Given the description of an element on the screen output the (x, y) to click on. 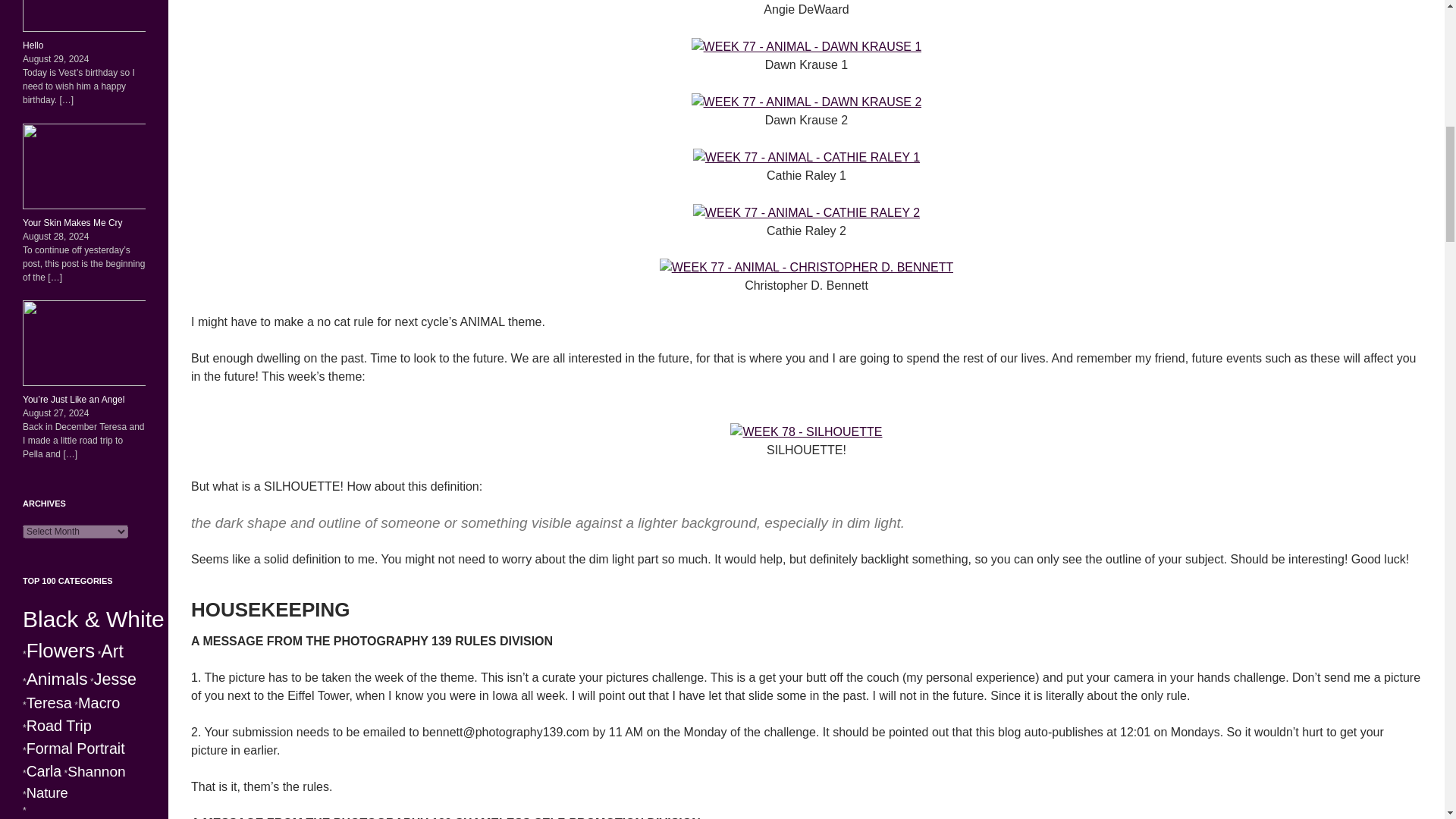
1025 topics (61, 649)
1267 topics (93, 618)
840 topics (56, 678)
862 topics (111, 650)
